Given the description of an element on the screen output the (x, y) to click on. 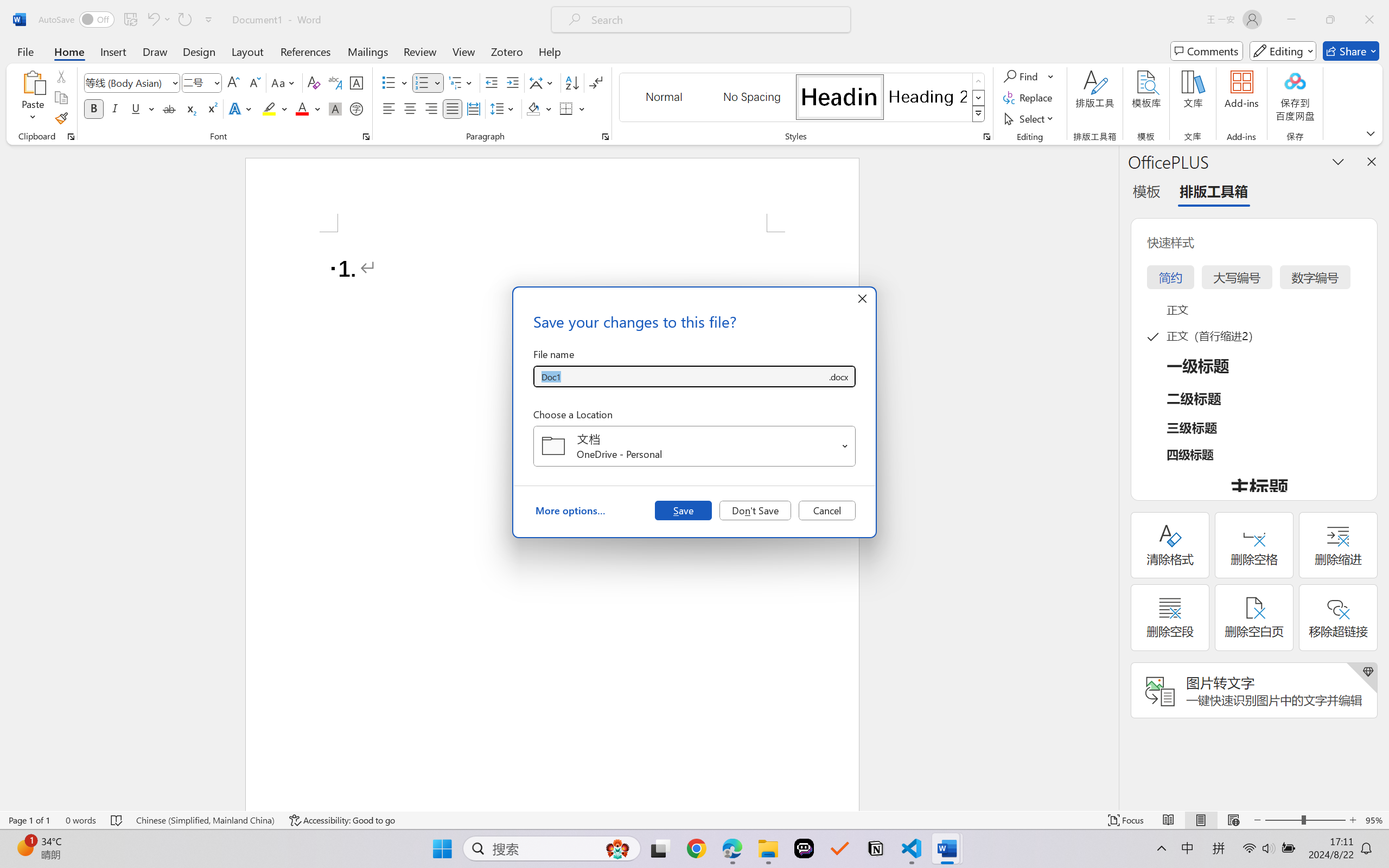
Save as type (837, 376)
Zoom 95% (1374, 819)
Cancel (826, 509)
